Given the description of an element on the screen output the (x, y) to click on. 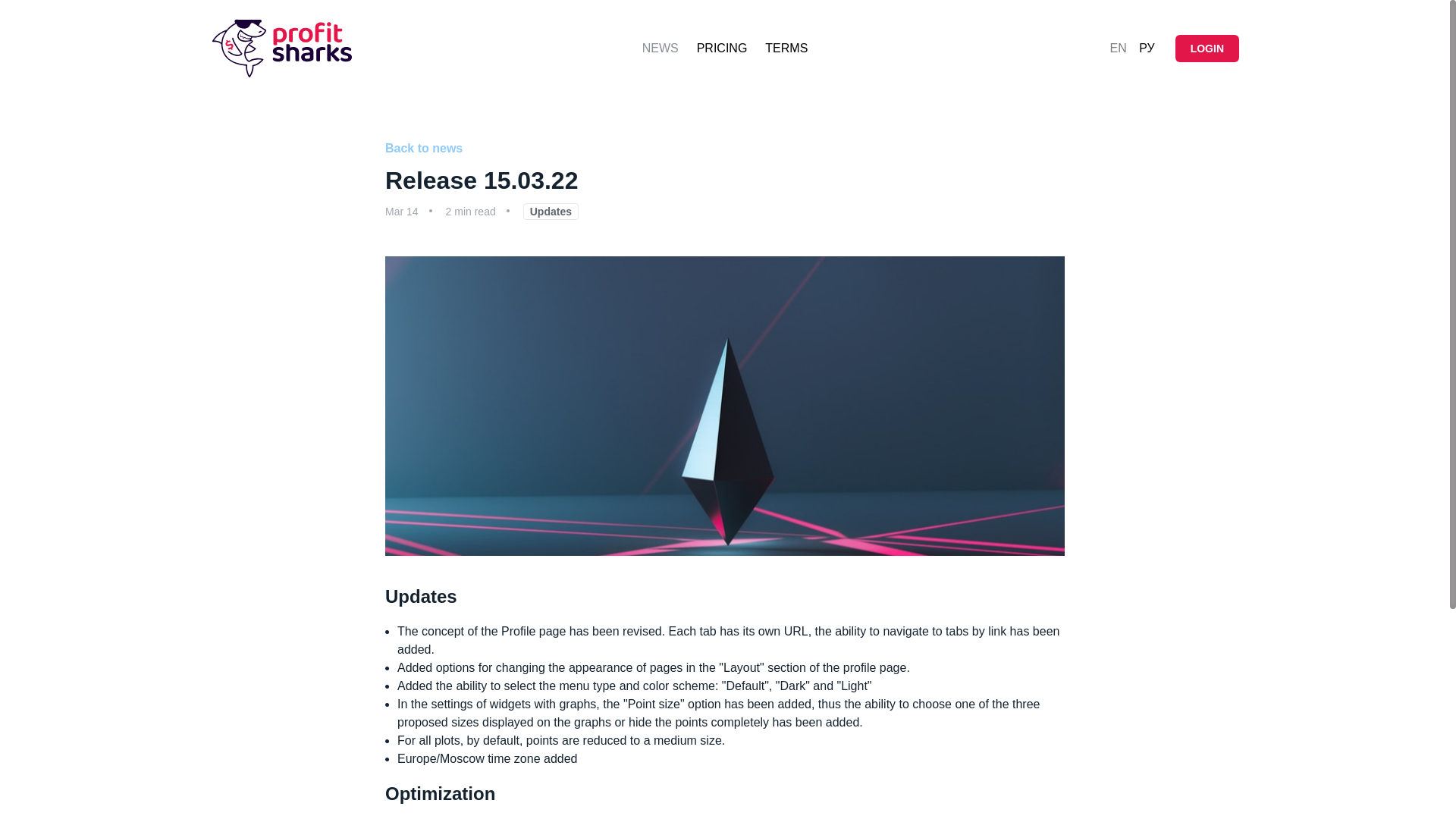
Back to news (724, 148)
PRICING (722, 48)
EN (1117, 47)
LOGIN (1206, 48)
TERMS (786, 48)
NEWS (660, 48)
